Given the description of an element on the screen output the (x, y) to click on. 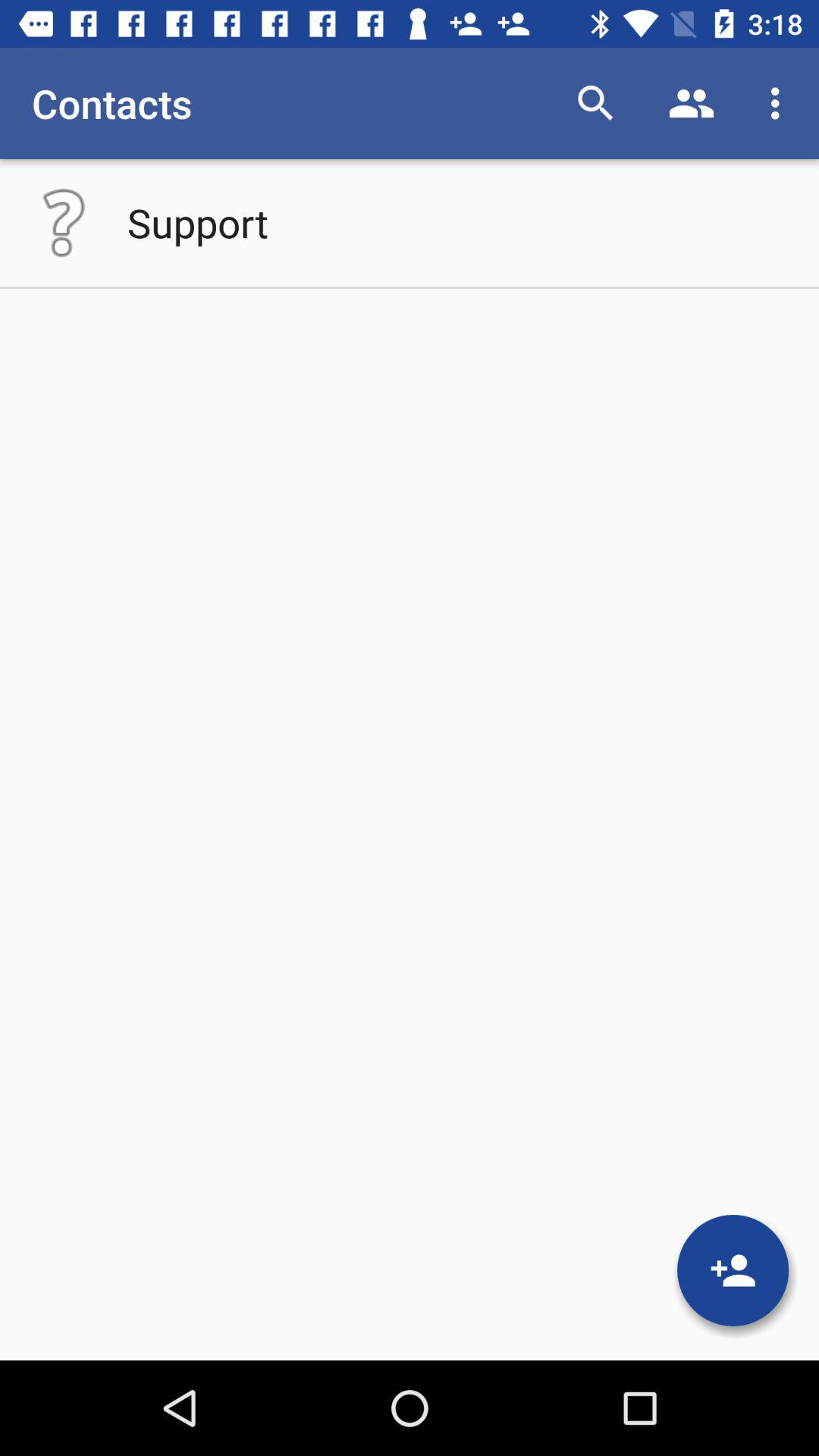
turn off item next to the contacts item (595, 103)
